Given the description of an element on the screen output the (x, y) to click on. 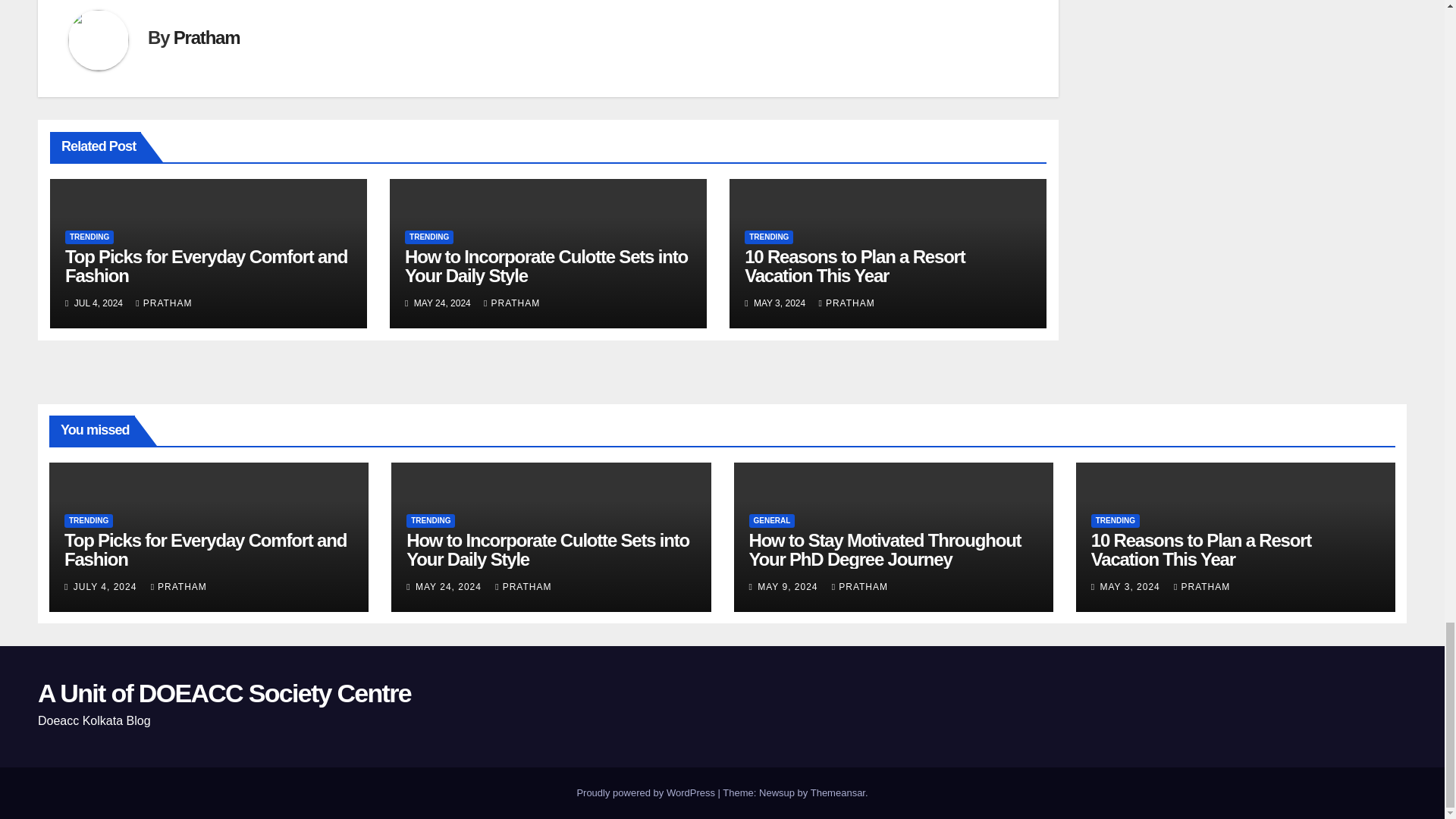
TRENDING (89, 237)
Permalink to: 10 Reasons to Plan a Resort Vacation This Year (1200, 549)
TRENDING (428, 237)
PRATHAM (163, 303)
Permalink to: 10 Reasons to Plan a Resort Vacation This Year (853, 265)
How to Incorporate Culotte Sets into Your Daily Style (545, 265)
Permalink to: Top Picks for Everyday Comfort and Fashion (206, 265)
Pratham (206, 37)
